Given the description of an element on the screen output the (x, y) to click on. 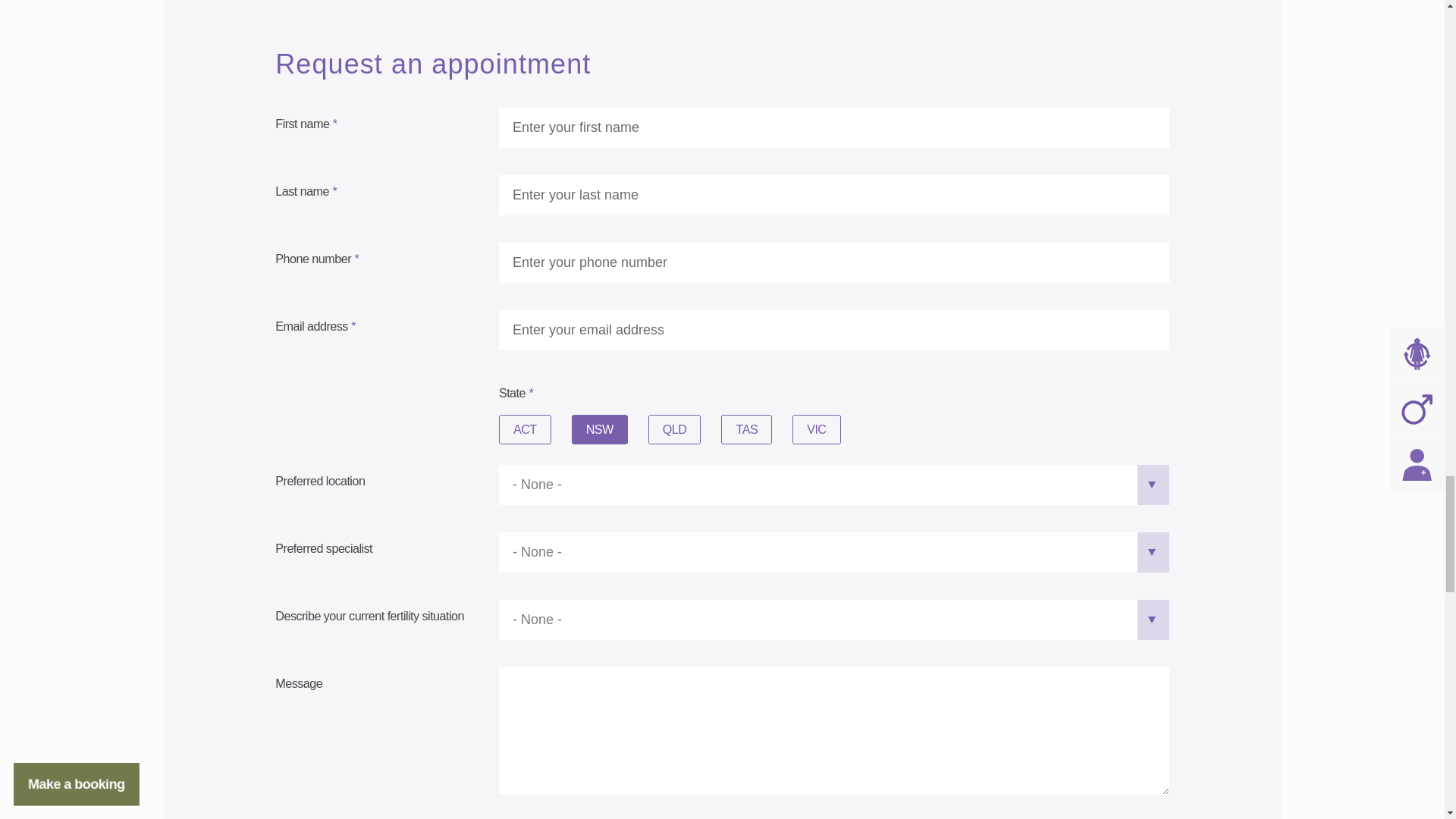
140 (803, 429)
162 (510, 429)
139 (583, 429)
142 (732, 429)
141 (659, 429)
